Given the description of an element on the screen output the (x, y) to click on. 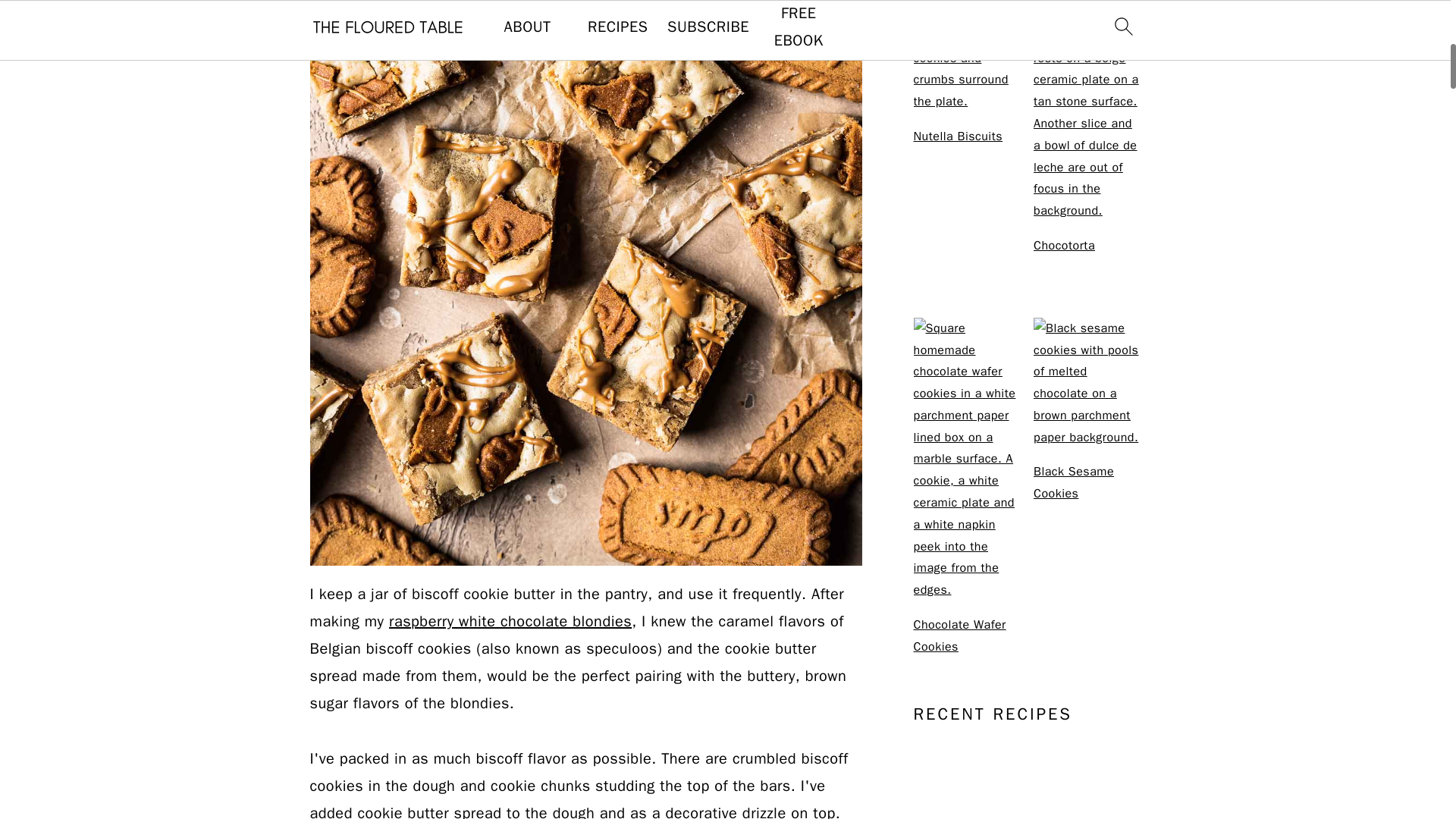
raspberry white chocolate blondies (509, 620)
